Given the description of an element on the screen output the (x, y) to click on. 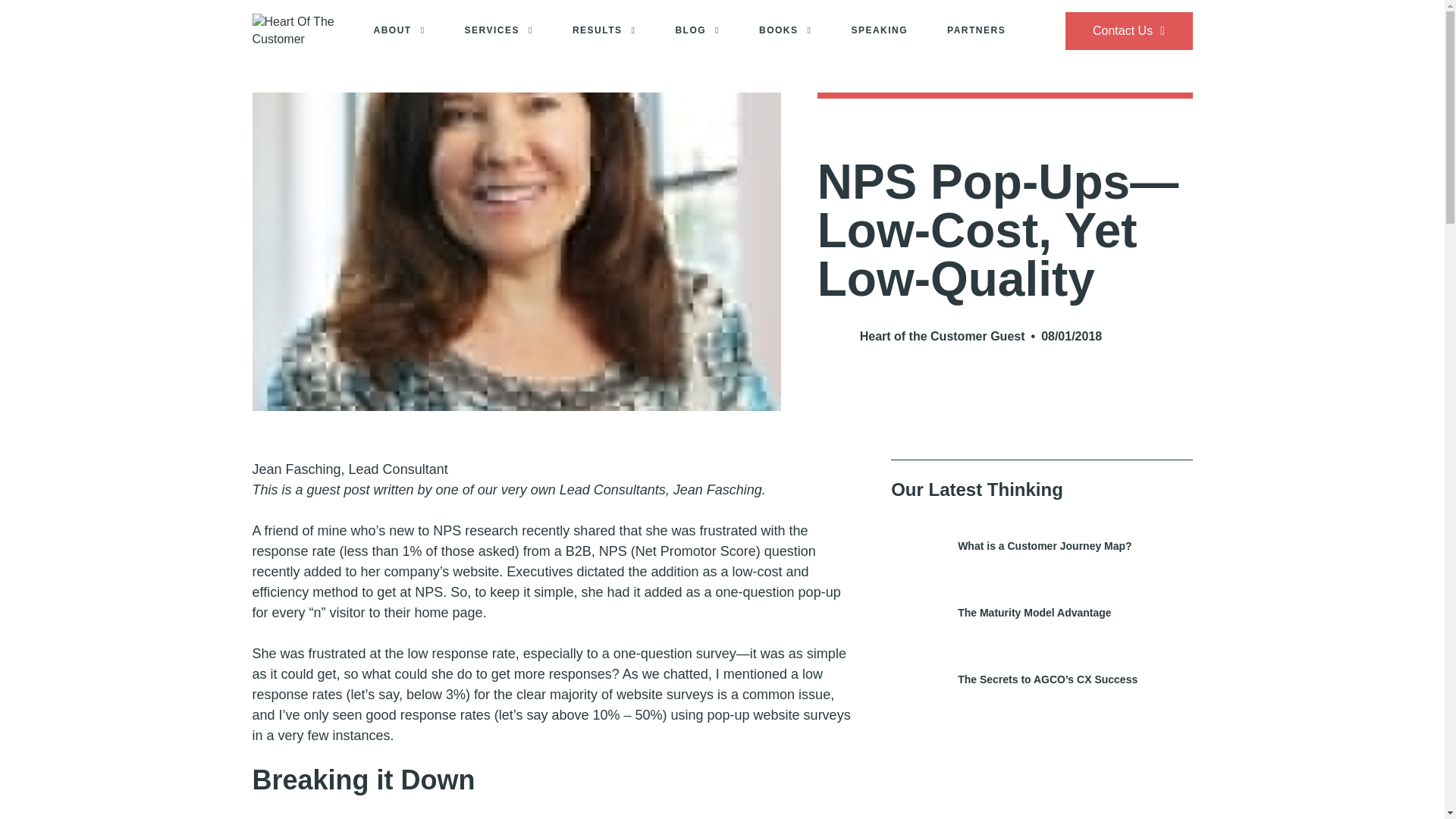
SPEAKING (878, 30)
Contact Us (1128, 30)
PARTNERS (975, 30)
